Given the description of an element on the screen output the (x, y) to click on. 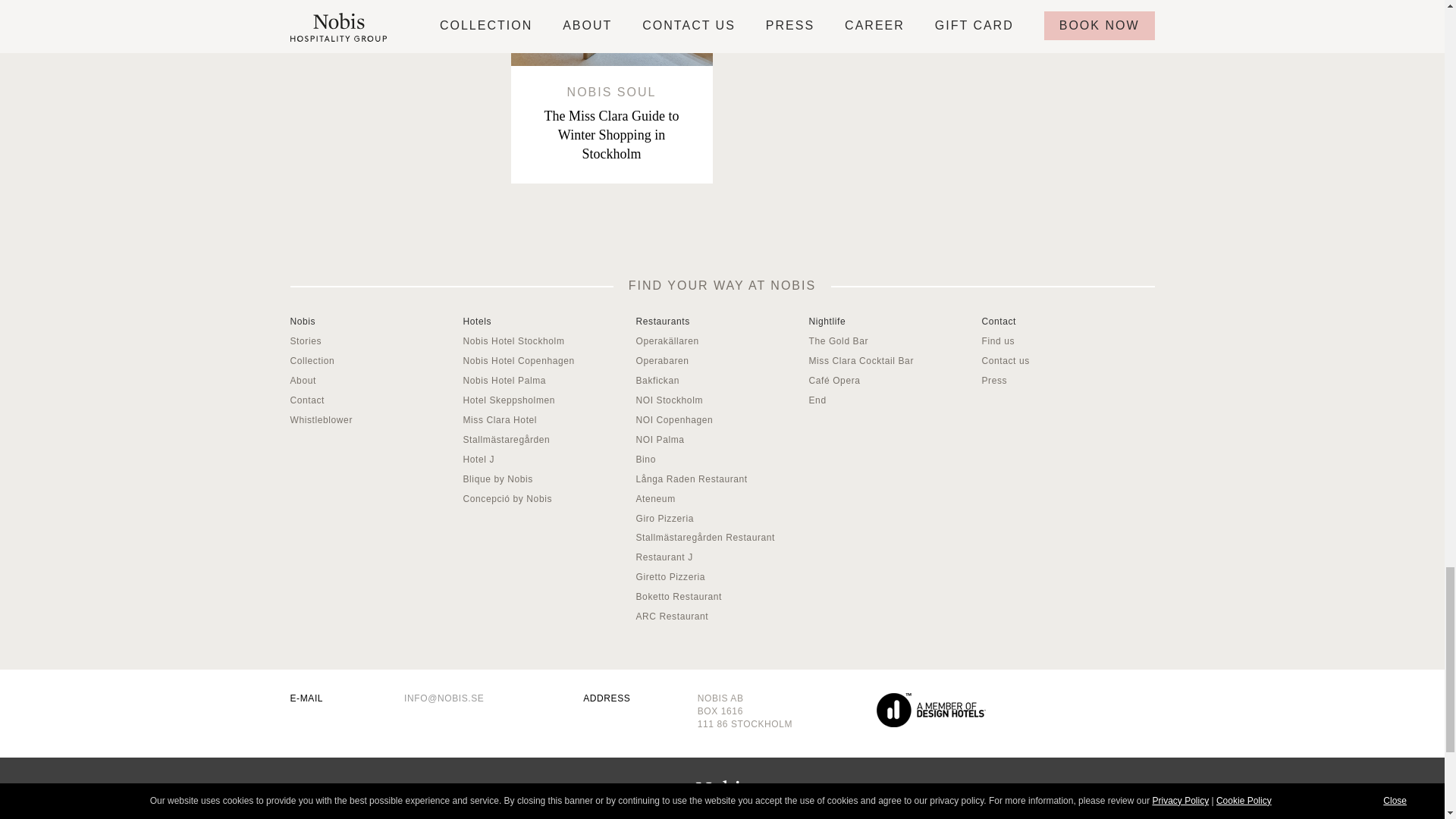
Hotel Skeppsholmen (508, 399)
Hotels (477, 321)
Bakfickan (656, 380)
Nobis (302, 321)
Miss Clara Hotel (500, 419)
Stories (305, 340)
Nobis Hotel Palma (1053, 15)
About (504, 380)
Blique by Nobis (302, 380)
